Given the description of an element on the screen output the (x, y) to click on. 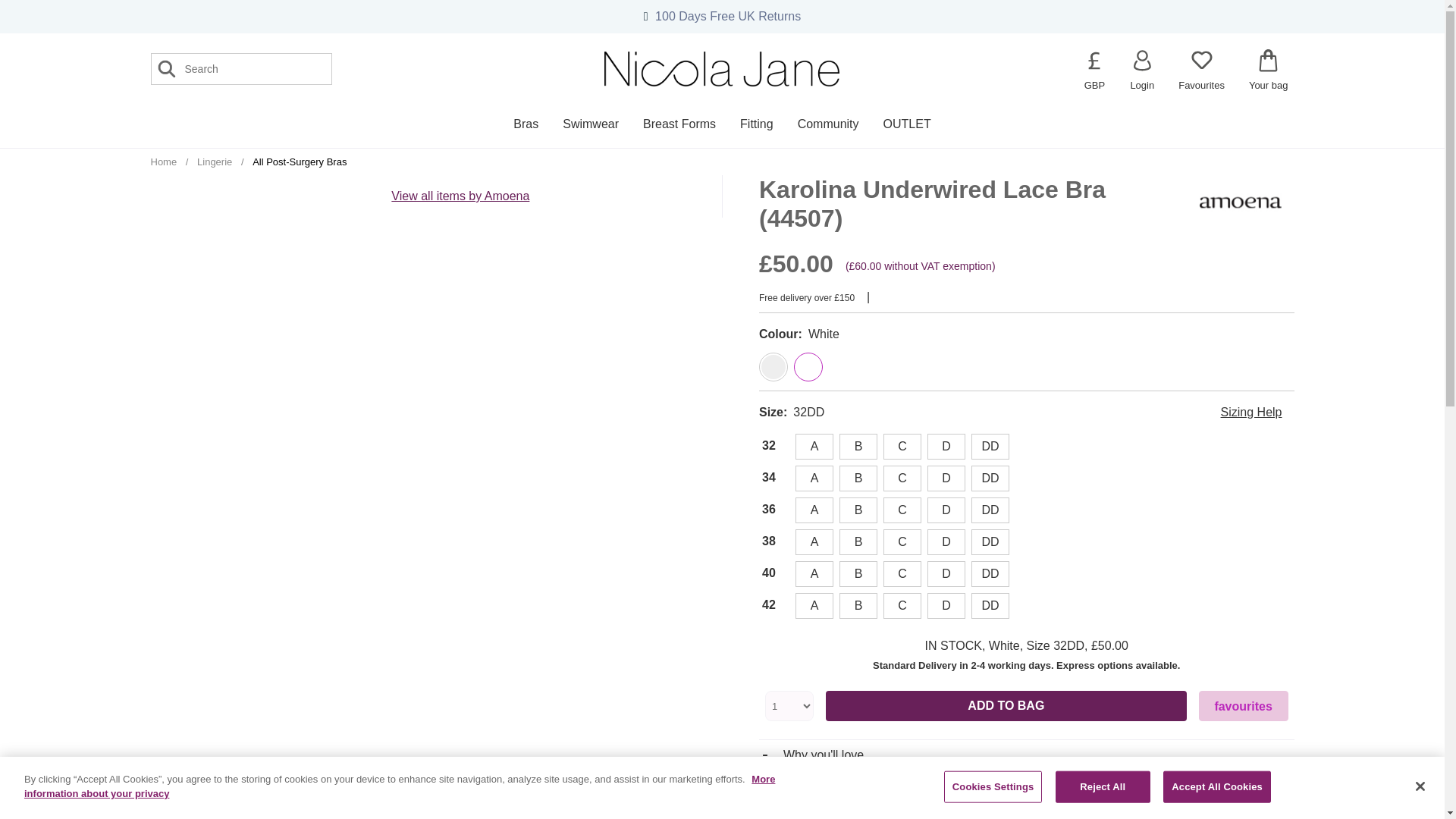
Favourites (1200, 69)
100 Days Free UK Returns (727, 15)
Add To Bag (1005, 706)
Nicola Jane (722, 68)
Bras (525, 124)
GBP (1094, 60)
